Given the description of an element on the screen output the (x, y) to click on. 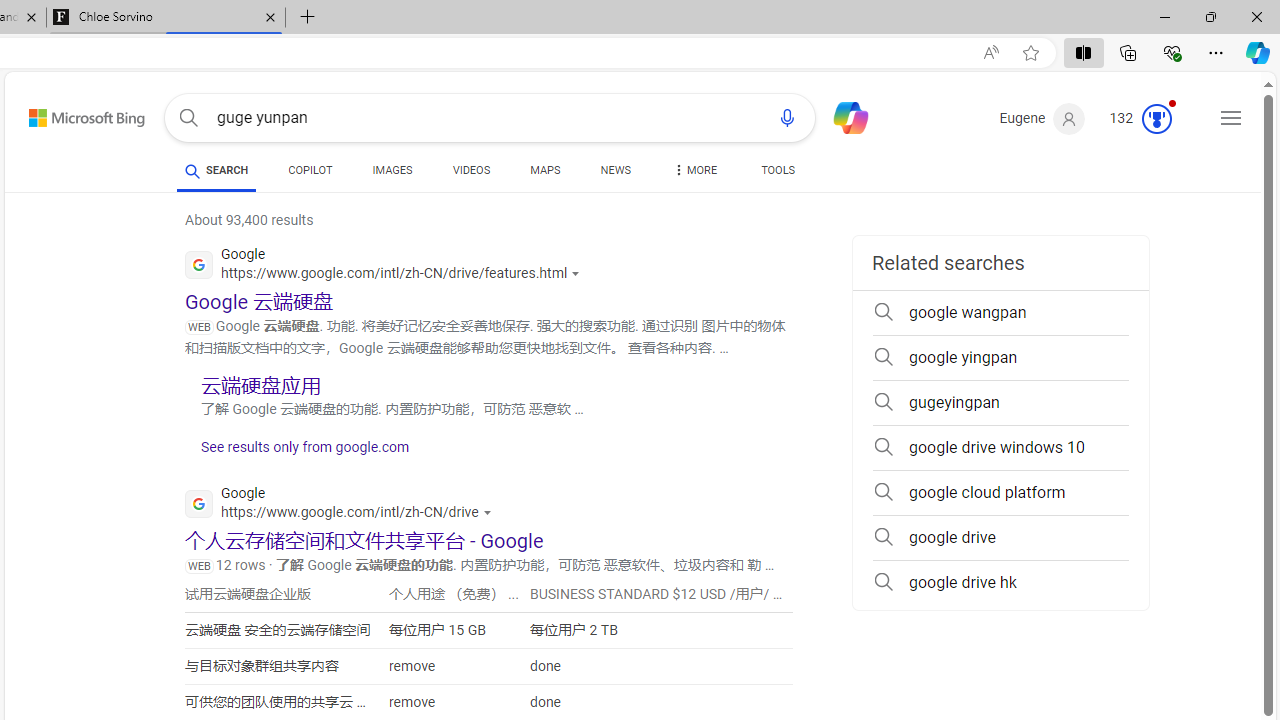
Close tab (270, 16)
Settings and more (Alt+F) (1215, 52)
google drive (1000, 538)
New Tab (308, 17)
Settings and quick links (1231, 117)
google cloud platform (1000, 492)
Chloe Sorvino (166, 17)
Collections (1128, 52)
MAPS (545, 170)
Dropdown Menu (693, 170)
Skip to content (65, 111)
Browser essentials (1171, 52)
Microsoft Rewards 123 (1142, 119)
